Given the description of an element on the screen output the (x, y) to click on. 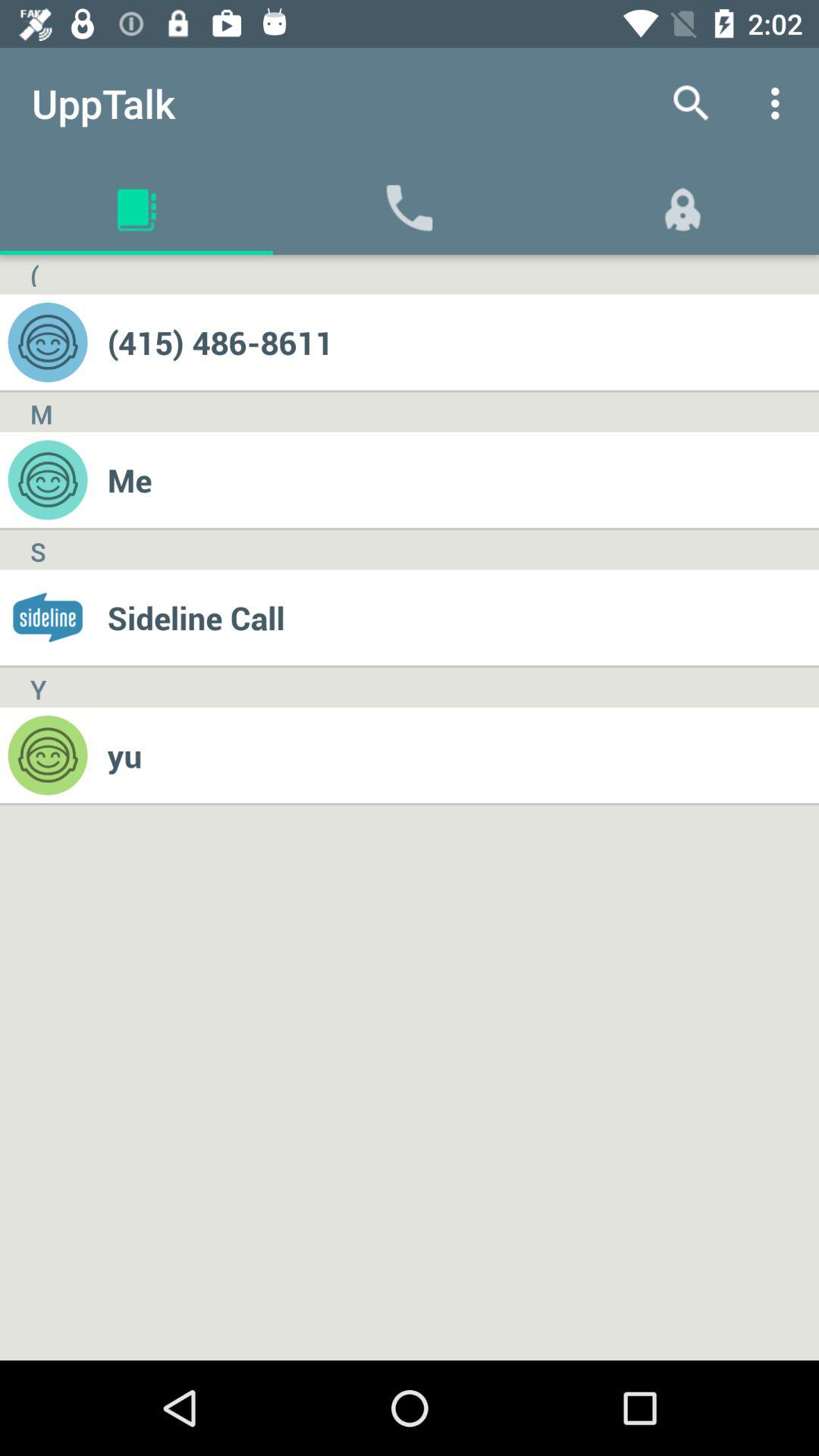
open item above sideline call item (463, 479)
